Given the description of an element on the screen output the (x, y) to click on. 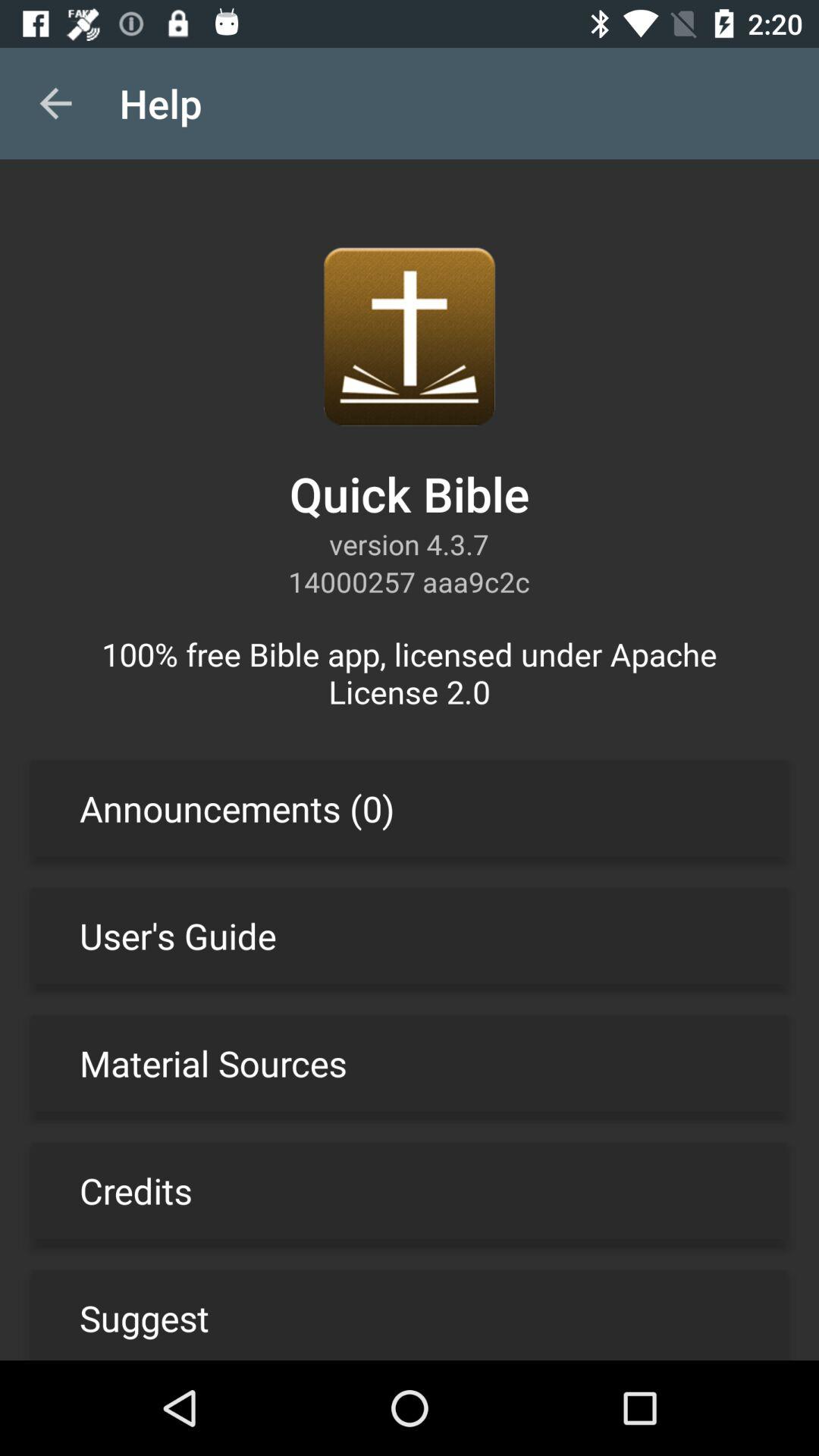
turn on the 100 free bible icon (409, 672)
